Given the description of an element on the screen output the (x, y) to click on. 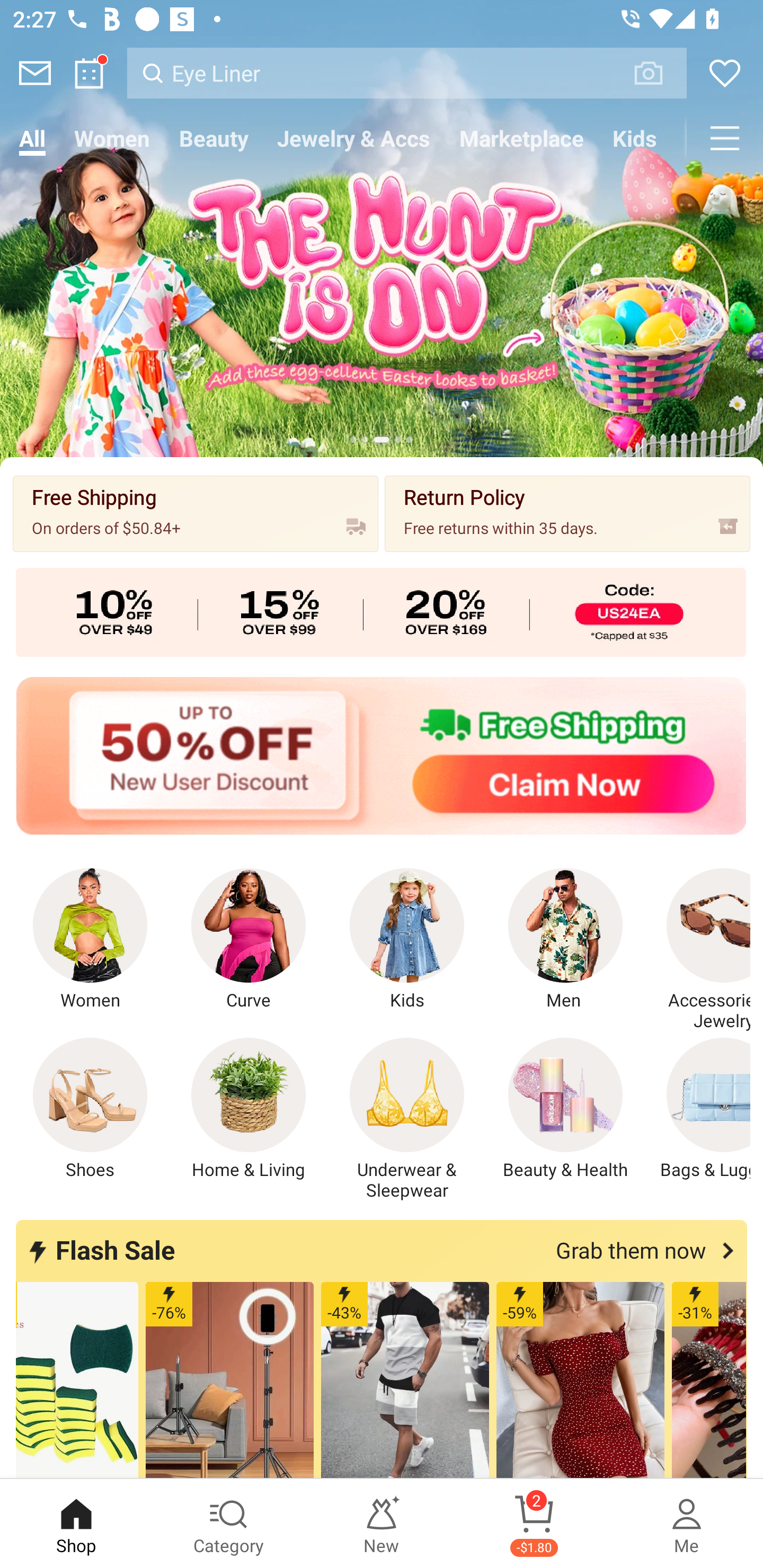
Wishlist (724, 72)
VISUAL SEARCH (657, 72)
All (31, 137)
Women (111, 137)
Beauty (213, 137)
Jewelry & Accs (353, 137)
Marketplace (521, 137)
Kids (634, 137)
Free Shipping On orders of $50.84+ (195, 513)
Return Policy Free returns within 35 days. (567, 513)
Women (89, 939)
Curve (248, 939)
Kids (406, 939)
Men  (565, 939)
Accessories & Jewelry (698, 949)
Shoes (89, 1109)
Home & Living (248, 1109)
Underwear & Sleepwear (406, 1119)
Beauty & Health (565, 1109)
Bags & Luggage (698, 1109)
Category (228, 1523)
New (381, 1523)
Cart 2 -$1.80 (533, 1523)
Me (686, 1523)
